Given the description of an element on the screen output the (x, y) to click on. 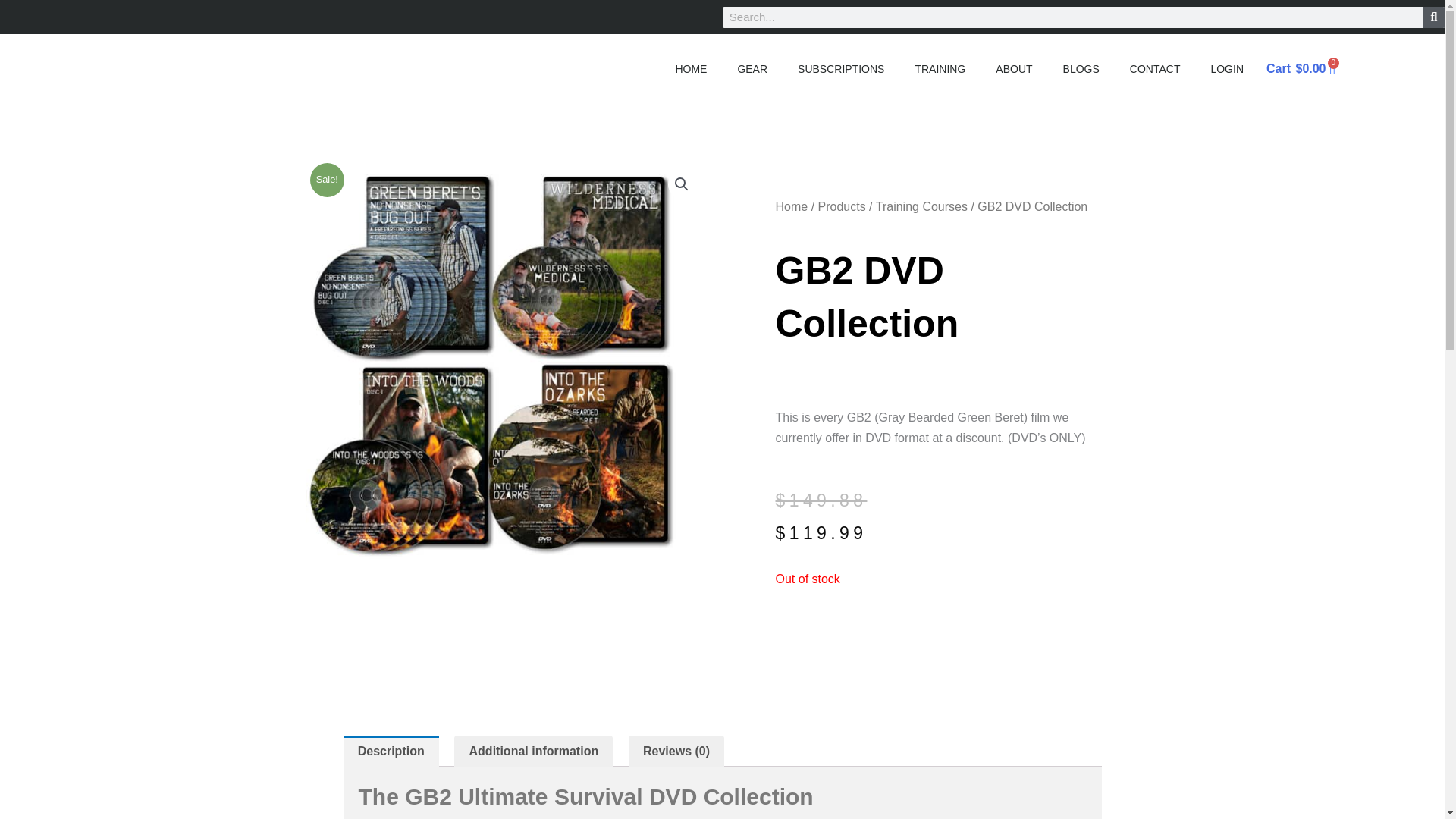
HOME (690, 69)
CONTACT (1155, 69)
SUBSCRIPTIONS (841, 69)
TRAINING (939, 69)
LOGIN (1227, 69)
BLOGS (1081, 69)
GEAR (752, 69)
ABOUT (1012, 69)
